Given the description of an element on the screen output the (x, y) to click on. 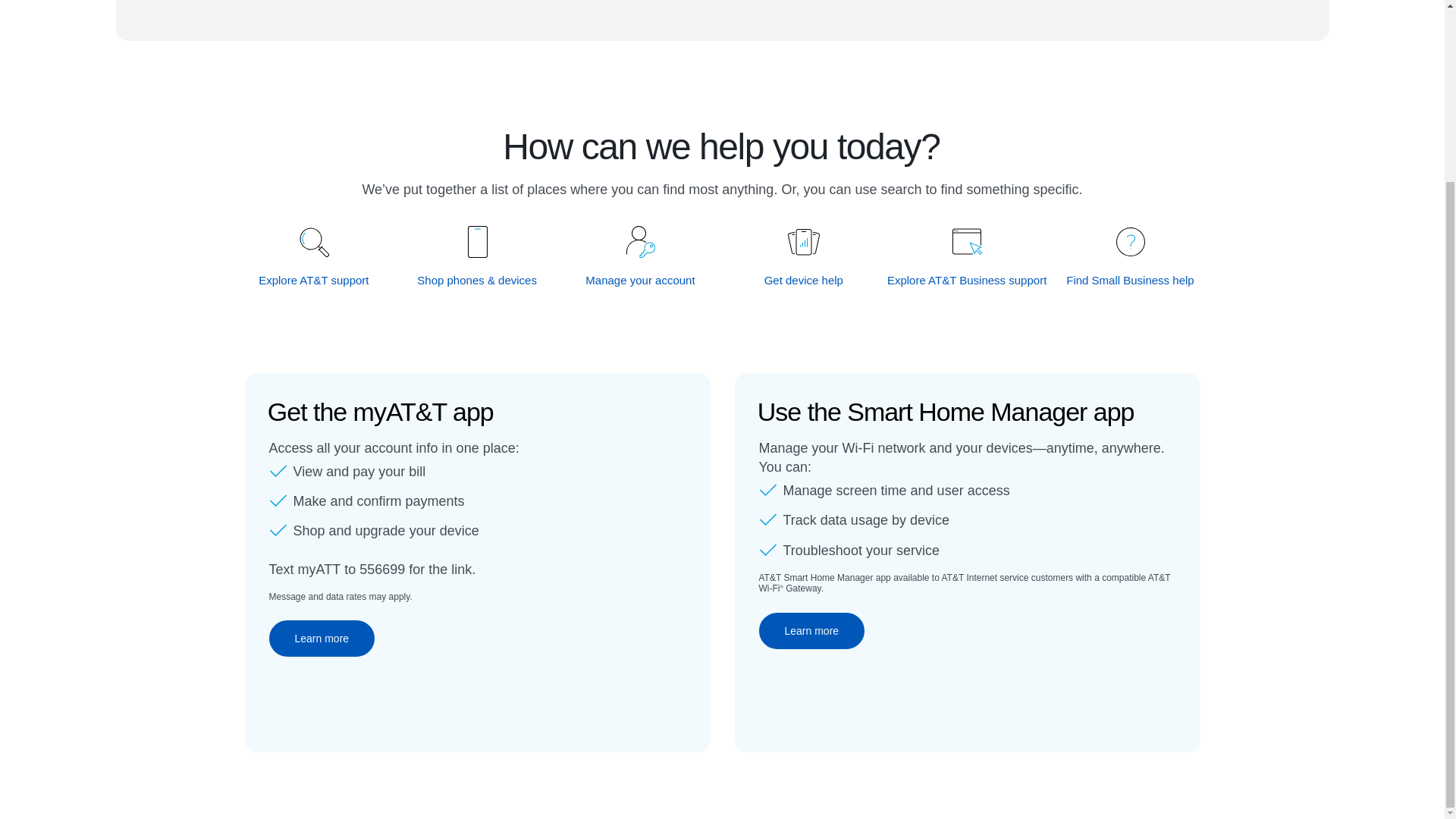
Find Small Business help (1130, 279)
Manage your account (640, 279)
Learn more (320, 637)
Learn more (811, 630)
Get device help (803, 279)
